Given the description of an element on the screen output the (x, y) to click on. 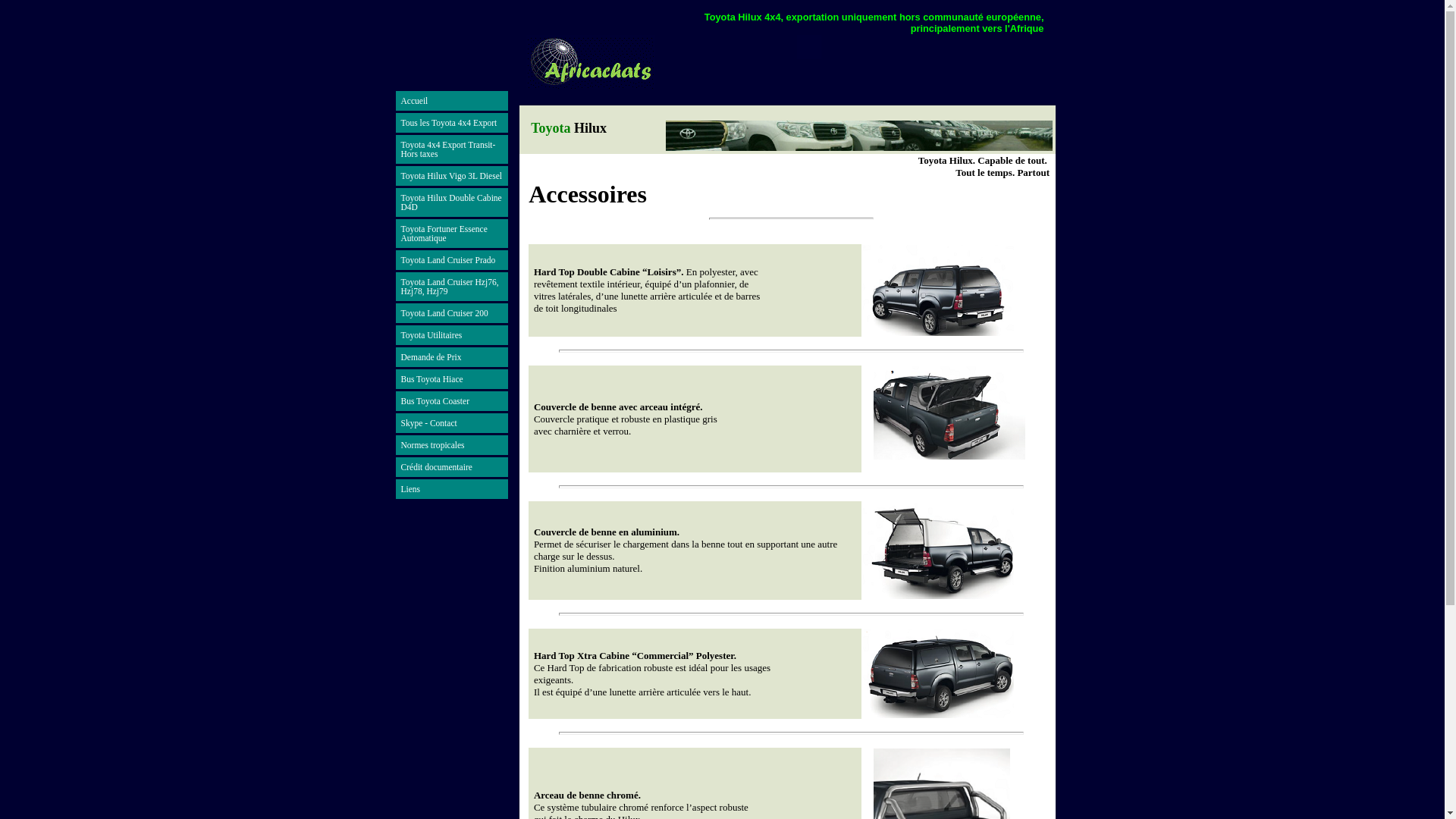
Demande de Prix Element type: text (451, 357)
Liens Element type: text (451, 489)
Toyota Hilux Vigo 3L Diesel Element type: text (451, 176)
Bus Toyota Coaster Element type: text (451, 401)
Toyota Fortuner Essence Automatique Element type: text (451, 233)
Toyota Hilux Double Cabine D4D Element type: text (451, 202)
Toyota Land Cruiser 200 Element type: text (451, 313)
Bus Toyota Hiace Element type: text (451, 379)
Toyota Land Cruiser Prado Element type: text (451, 260)
Skype - Contact Element type: text (451, 423)
Toyota Utilitaires Element type: text (451, 335)
Toyota Land Cruiser Hzj76, Hzj78, Hzj79 Element type: text (451, 286)
Normes tropicales Element type: text (451, 445)
Toyota 4x4 Export Transit-Hors taxes Element type: text (451, 149)
Accueil Element type: text (451, 101)
Tous les Toyota 4x4 Export Element type: text (451, 122)
